Given the description of an element on the screen output the (x, y) to click on. 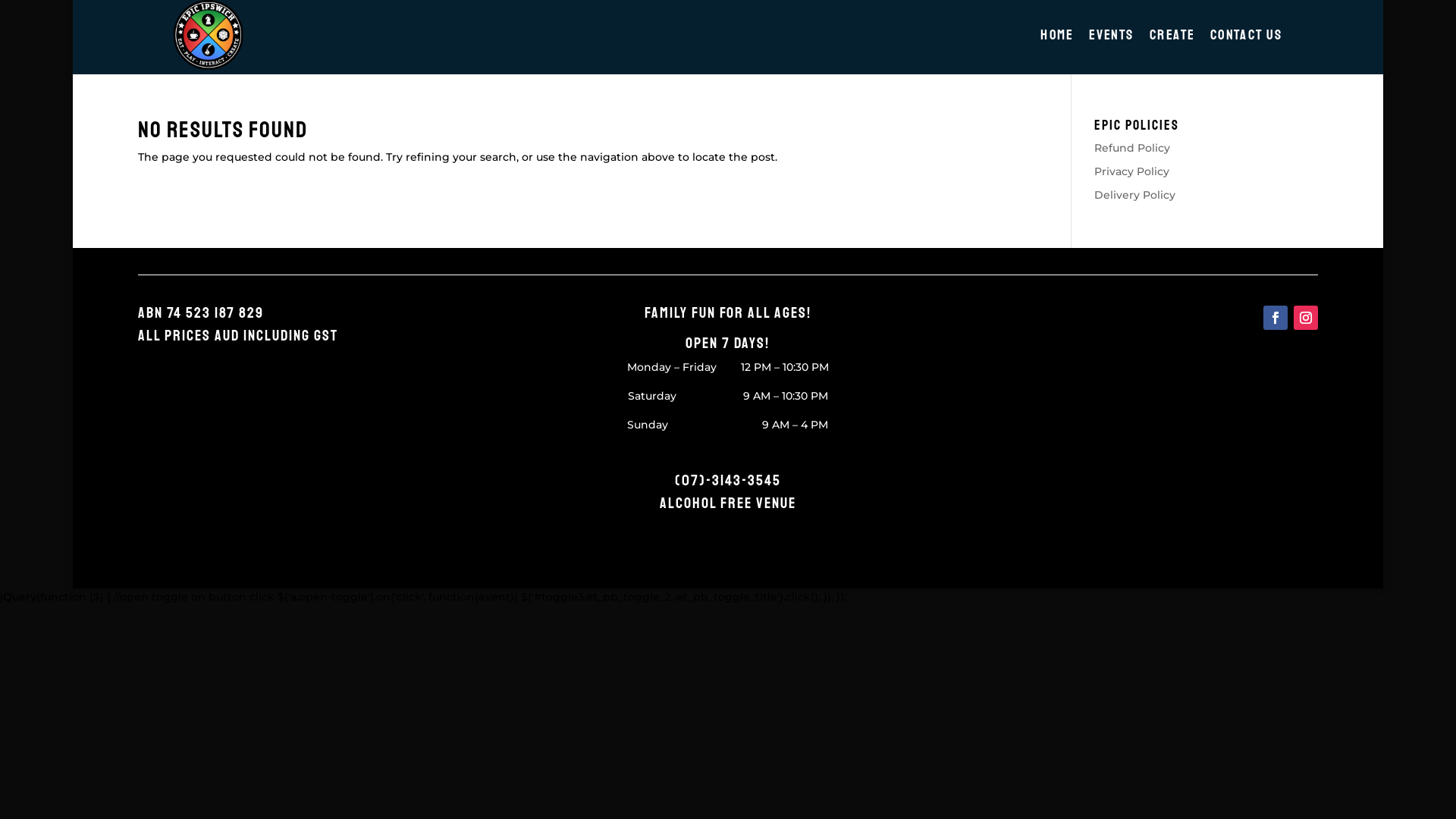
Create Element type: text (1173, 37)
Refund Policy Element type: text (1132, 147)
Delivery Policy Element type: text (1134, 194)
Home Element type: text (1057, 37)
Follow on Instagram Element type: hover (1305, 317)
Privacy Policy Element type: text (1131, 171)
Follow on Facebook Element type: hover (1275, 317)
Contact Us Element type: text (1248, 37)
Events Element type: text (1112, 37)
